Given the description of an element on the screen output the (x, y) to click on. 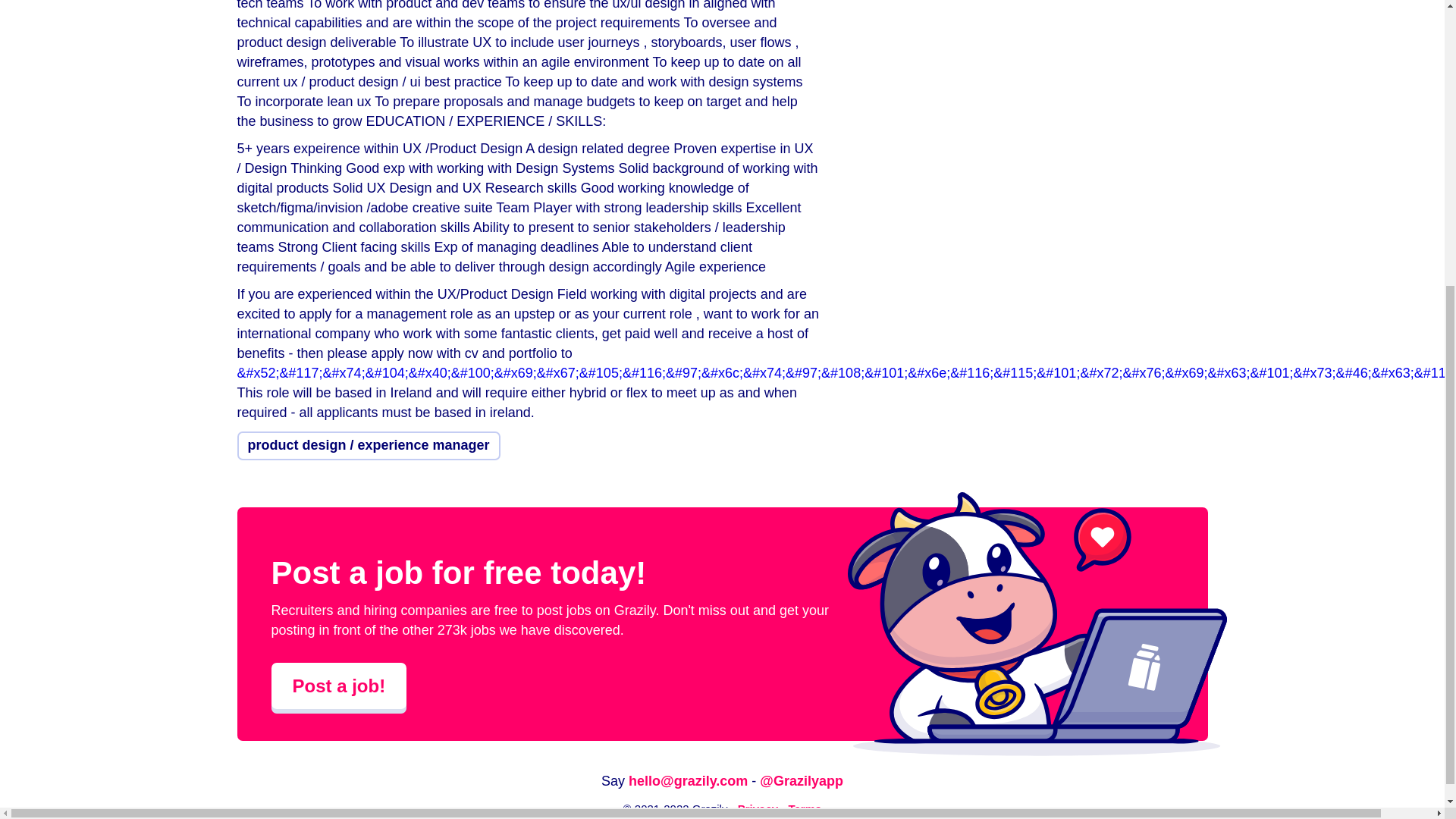
Privacy (757, 808)
Terms (804, 808)
Post a job! (338, 685)
